Given the description of an element on the screen output the (x, y) to click on. 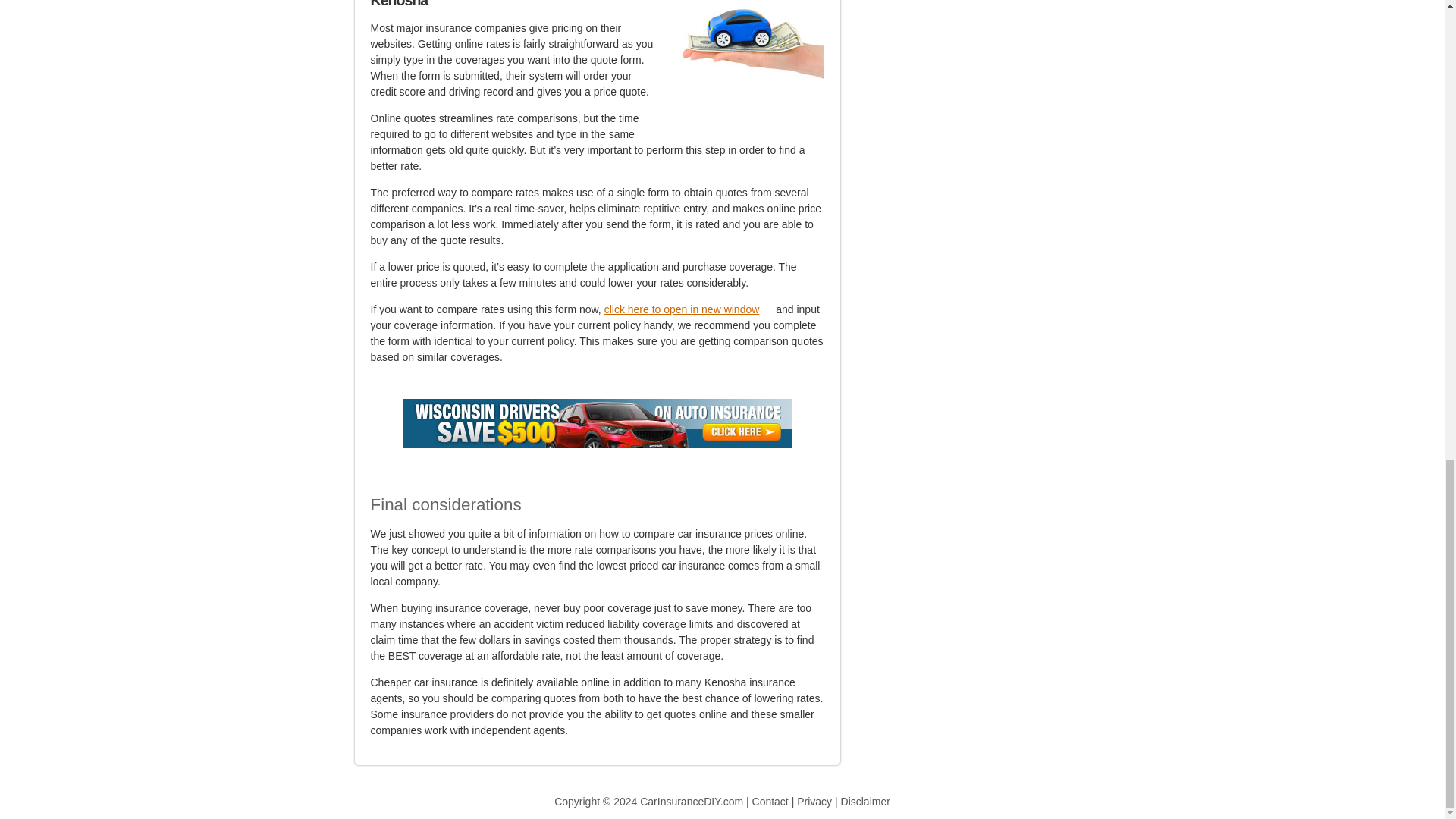
click here to open in new window (688, 309)
Disclaimer (865, 801)
Privacy (813, 801)
Contact (770, 801)
